Given the description of an element on the screen output the (x, y) to click on. 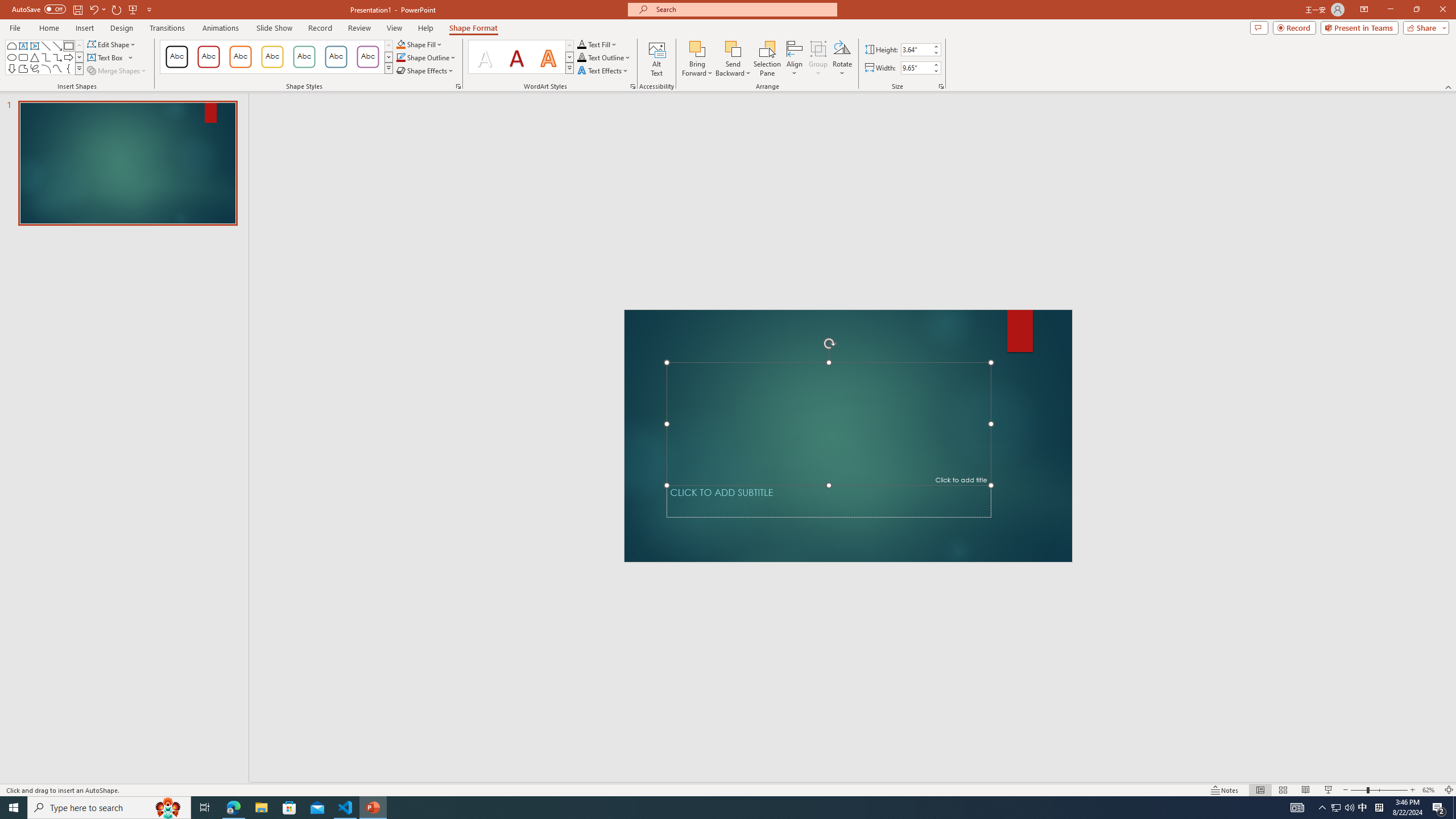
Colored Outline - Orange, Accent 2 (240, 56)
Bring Forward (697, 48)
Shape Height (915, 49)
Draw Horizontal Text Box (105, 56)
Fill: Dark Red, Accent color 1; Shadow (516, 56)
